Given the description of an element on the screen output the (x, y) to click on. 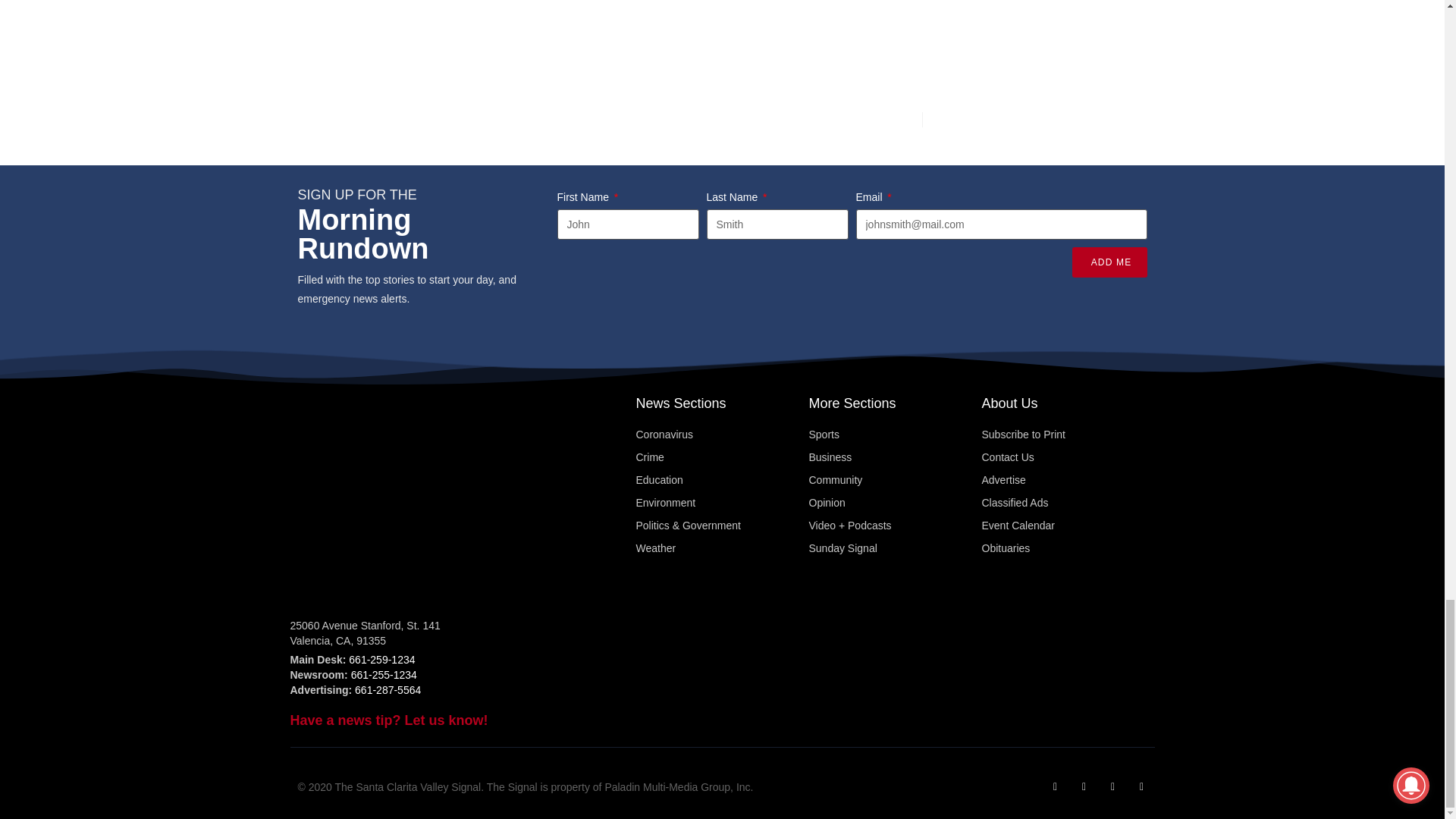
3rd party ad content (1031, 56)
